Given the description of an element on the screen output the (x, y) to click on. 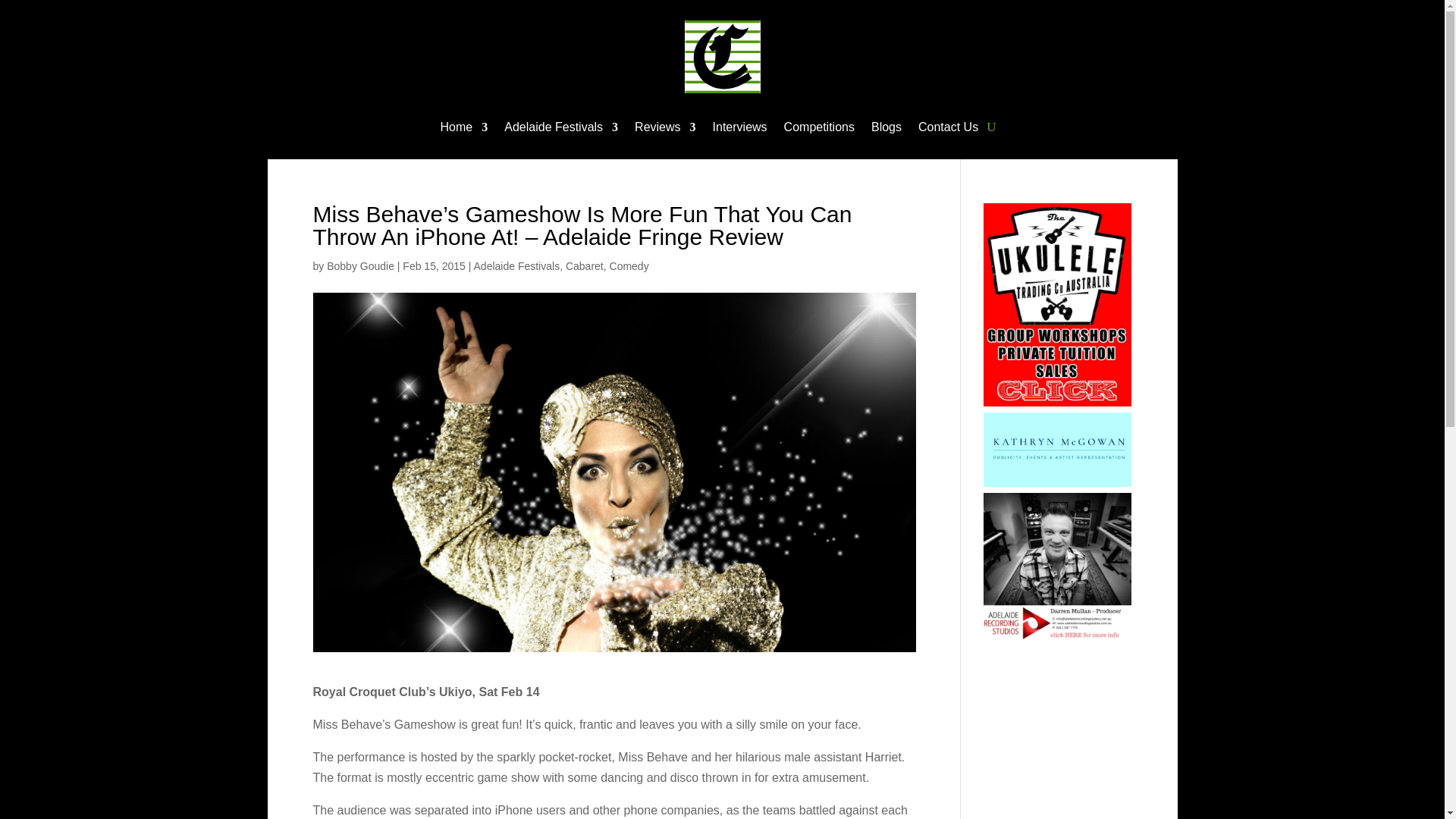
Competitions (819, 129)
Reviews (664, 129)
Home (464, 129)
Contact Us (948, 129)
Blogs (885, 129)
Posts by Bobby Goudie (360, 265)
Adelaide Festivals (560, 129)
Clothesline C icon 3 (722, 56)
Interviews (740, 129)
